Given the description of an element on the screen output the (x, y) to click on. 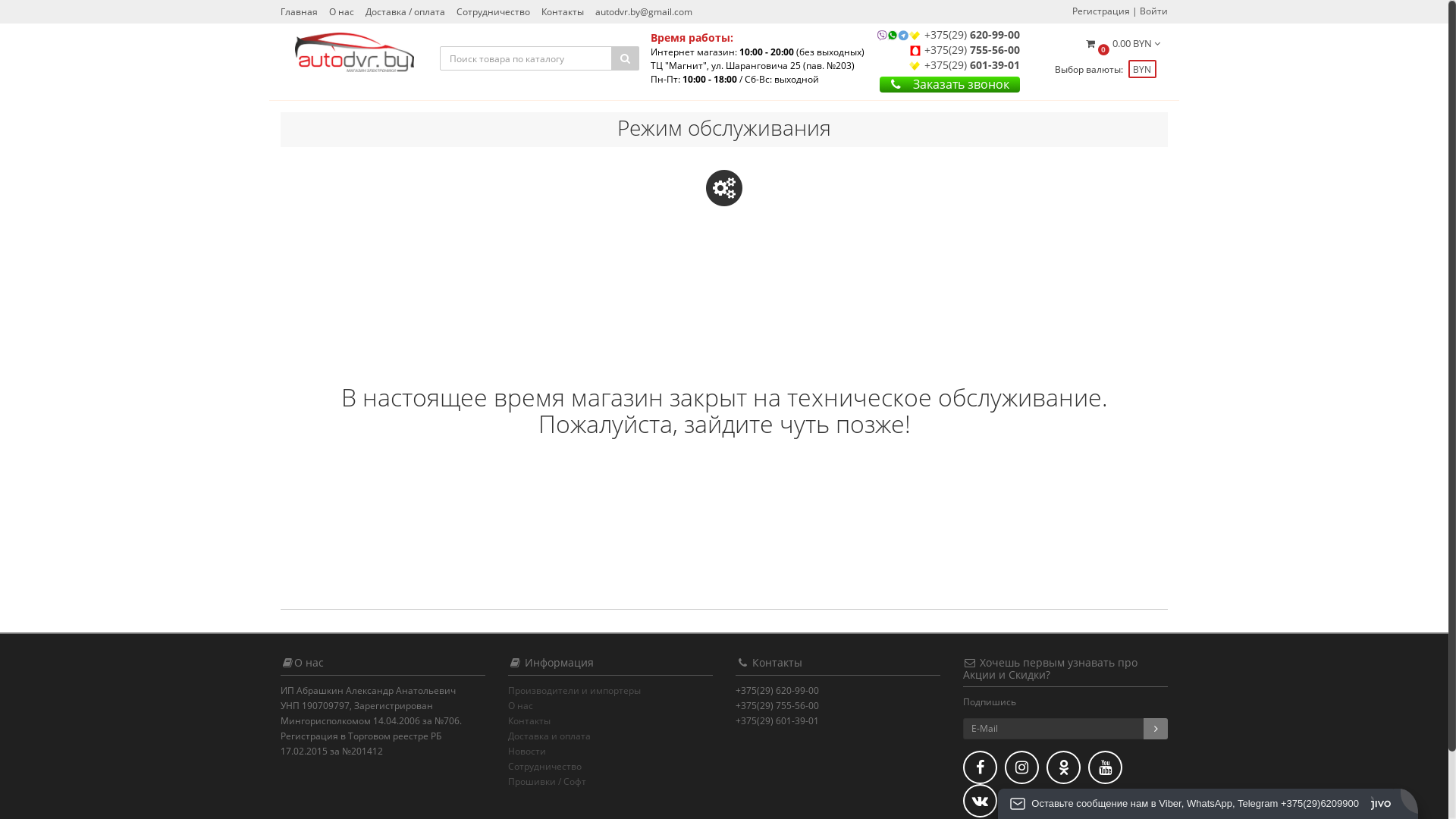
BYN Element type: text (1140, 68)
0
0.00 BYN Element type: text (1121, 46)
+375(29) 620-99-00 Element type: text (971, 34)
autodvr.by@gmail.com Element type: text (643, 11)
+375(29) 601-39-01 Element type: text (971, 64)
AUTODVR.BY Element type: hover (354, 52)
+375(29) 755-56-00 Element type: text (971, 49)
